Given the description of an element on the screen output the (x, y) to click on. 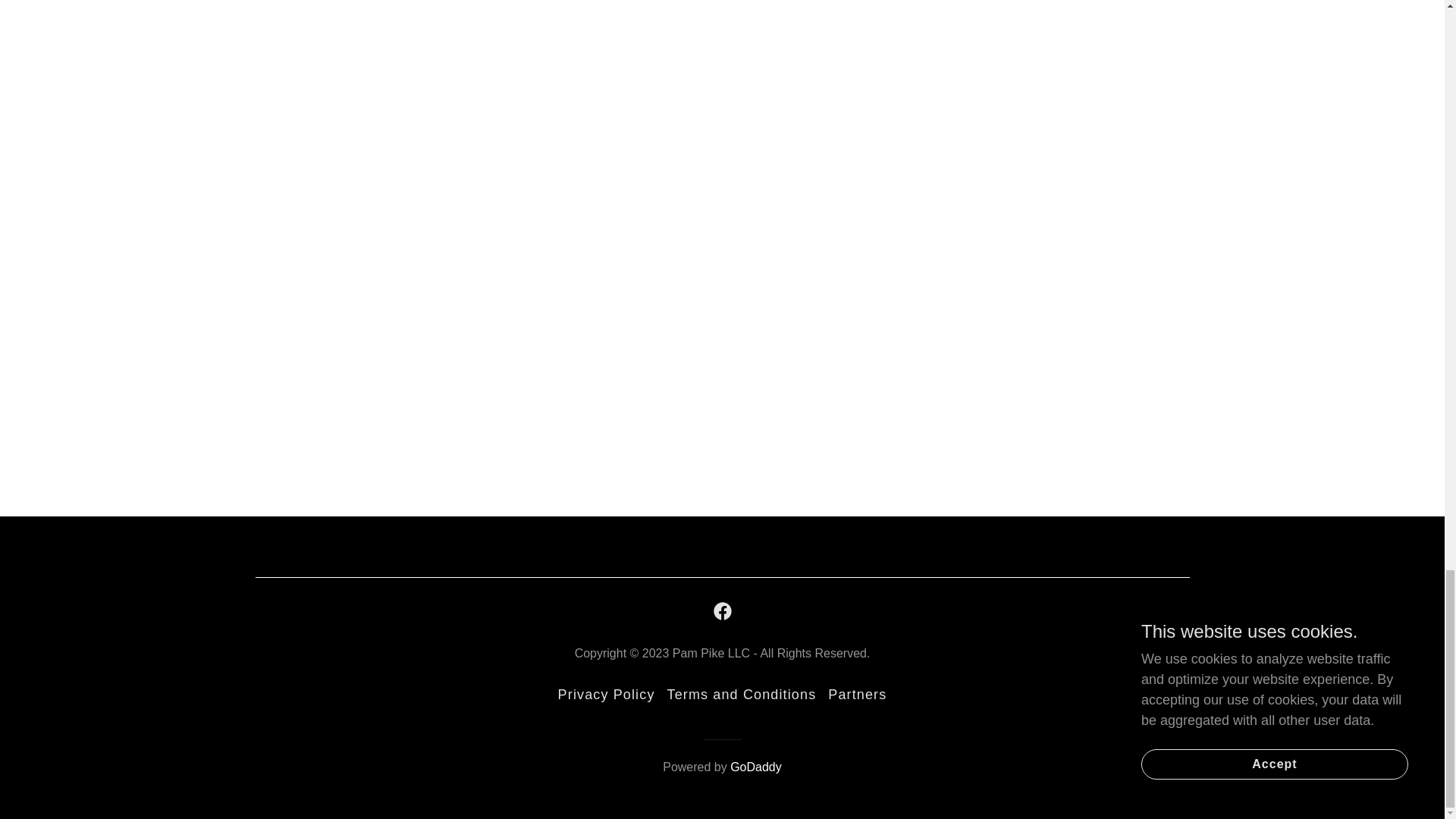
Partners (857, 694)
Terms and Conditions (741, 694)
GoDaddy (755, 766)
Privacy Policy (606, 694)
